Given the description of an element on the screen output the (x, y) to click on. 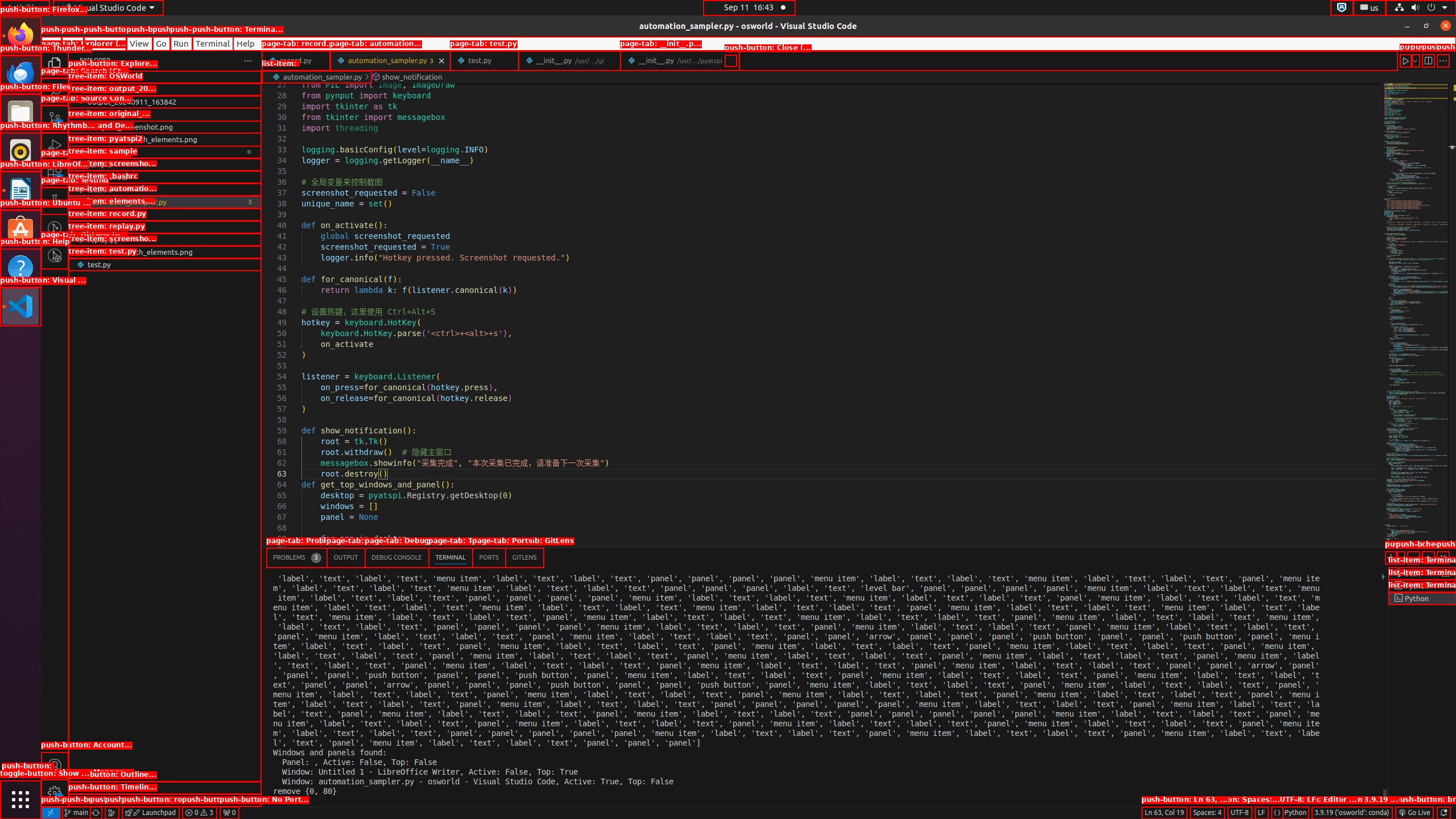
Go Element type: push-button (161, 43)
Ports Element type: page-tab (488, 557)
Terminal 1 bash Element type: list-item (1422, 573)
Notifications Element type: push-button (1443, 812)
